Given the description of an element on the screen output the (x, y) to click on. 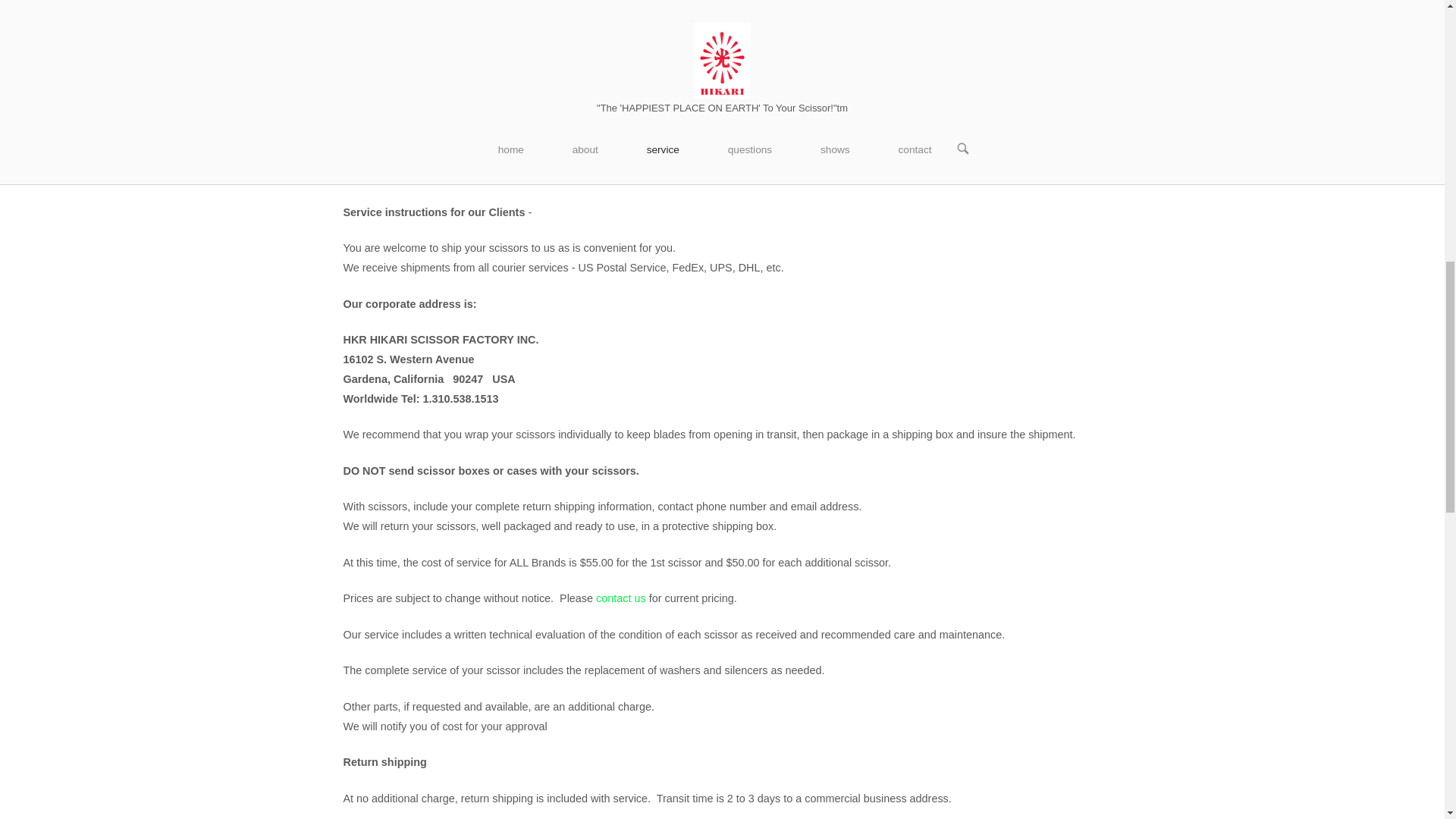
contact us (620, 598)
